Given the description of an element on the screen output the (x, y) to click on. 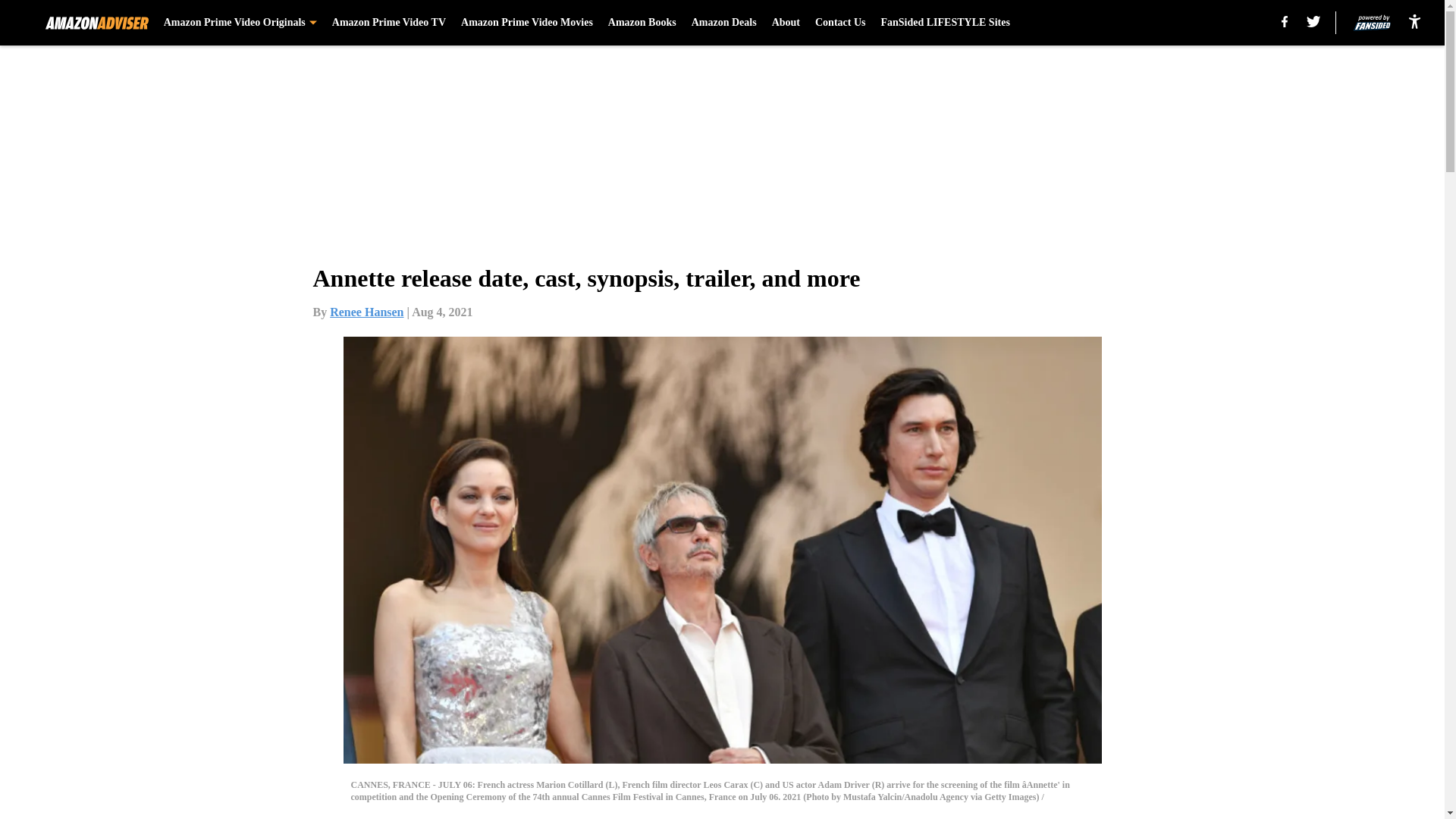
Amazon Books (642, 22)
Contact Us (840, 22)
About (785, 22)
FanSided LIFESTYLE Sites (944, 22)
Amazon Deals (724, 22)
Amazon Prime Video Movies (526, 22)
Amazon Prime Video TV (388, 22)
Renee Hansen (366, 311)
